Given the description of an element on the screen output the (x, y) to click on. 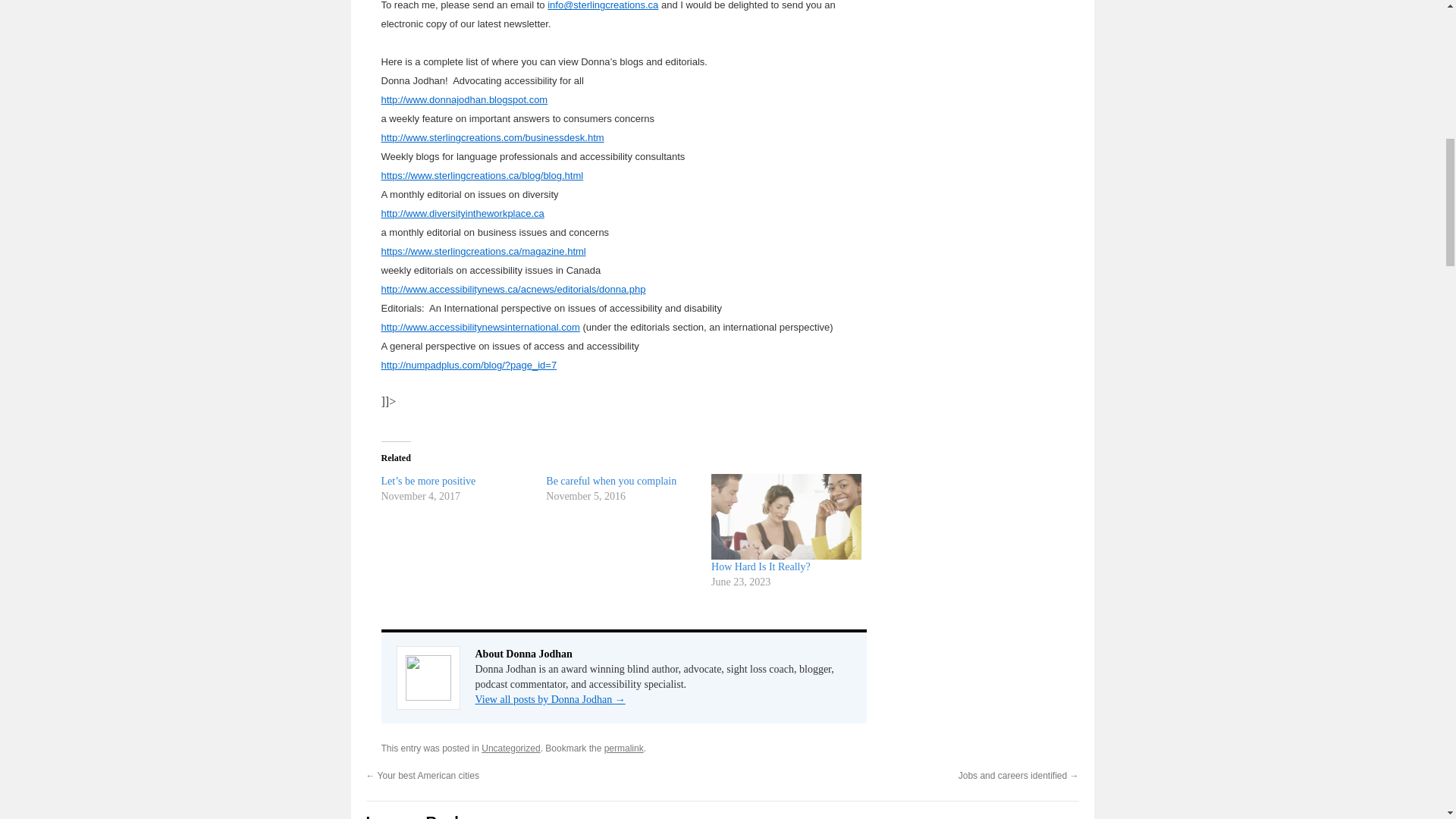
How Hard Is It Really? (760, 566)
Permalink to No right to grumble (623, 747)
How Hard Is It Really? (760, 566)
How Hard Is It Really? (786, 516)
permalink (623, 747)
Uncategorized (510, 747)
Be careful when you complain (611, 480)
Be careful when you complain (628, 489)
Be careful when you complain (611, 480)
